Given the description of an element on the screen output the (x, y) to click on. 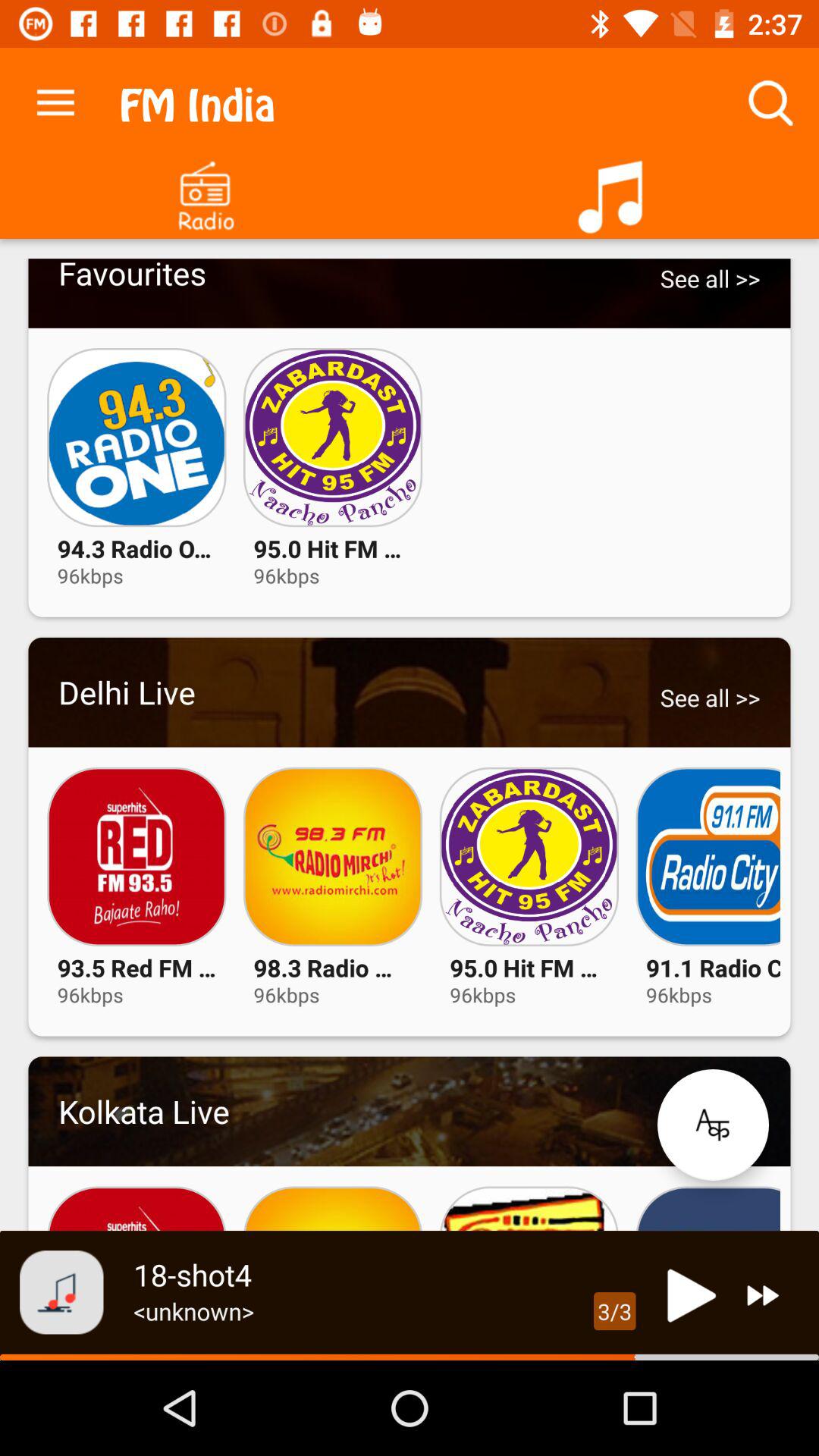
go to the fast forward icon (763, 1295)
click on 911 fm radio city app (708, 856)
click on the image which says zabardast hit 95 fm (529, 856)
select the button which is having the text kolkata live (409, 1111)
it is clickable (409, 692)
click on kolkata live (409, 1111)
